Given the description of an element on the screen output the (x, y) to click on. 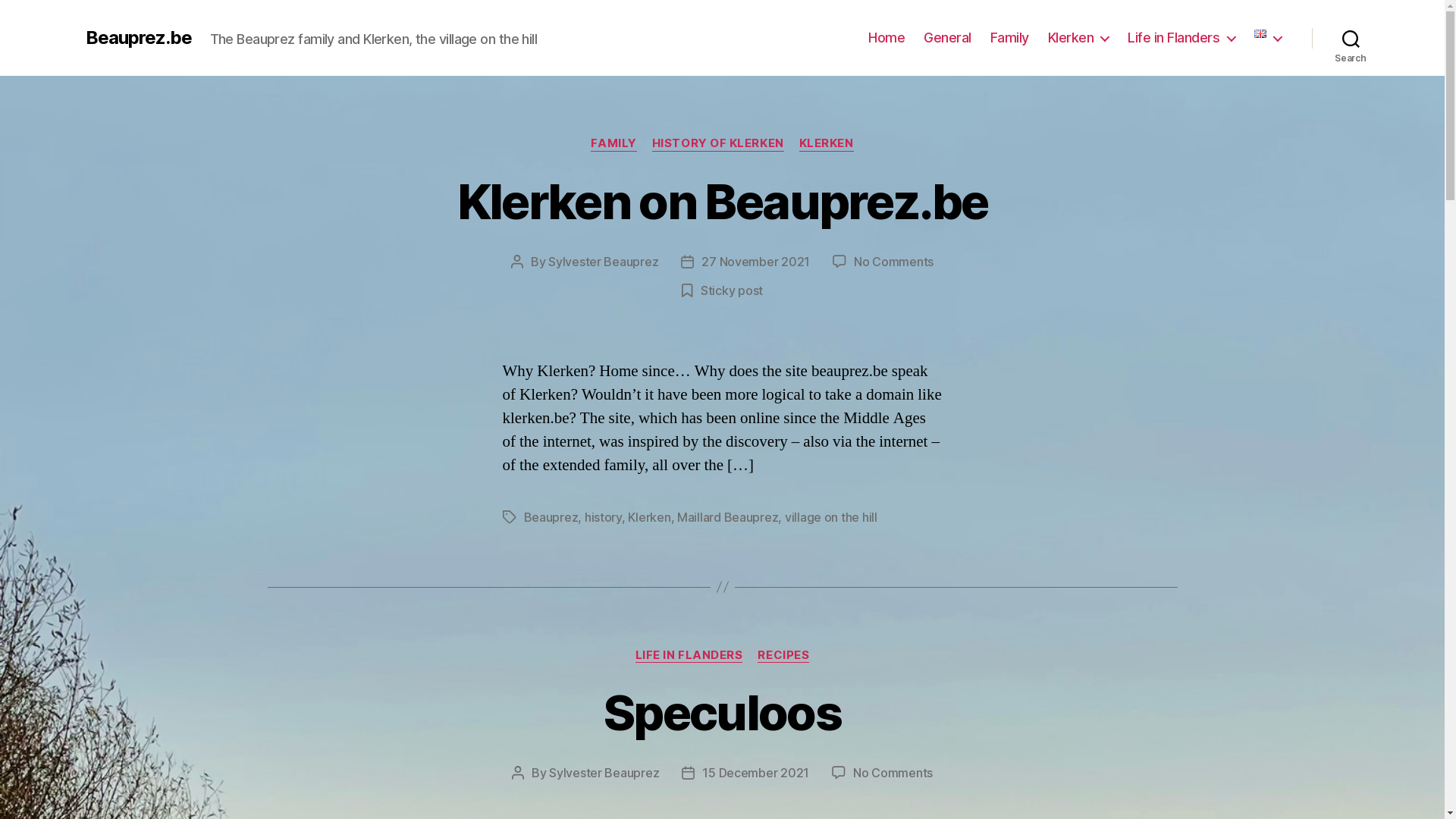
Sylvester Beauprez Element type: text (603, 261)
Home Element type: text (886, 37)
KLERKEN Element type: text (826, 143)
LIFE IN FLANDERS Element type: text (689, 655)
27 November 2021 Element type: text (755, 261)
Speculoos Element type: text (721, 712)
Klerken on Beauprez.be Element type: text (722, 201)
No Comments
on Klerken on Beauprez.be Element type: text (893, 261)
Sylvester Beauprez Element type: text (603, 772)
Maillard Beauprez Element type: text (727, 516)
Klerken Element type: text (1078, 37)
15 December 2021 Element type: text (755, 772)
FAMILY Element type: text (613, 143)
Family Element type: text (1009, 37)
Beauprez Element type: text (550, 516)
Life in Flanders Element type: text (1180, 37)
No Comments
on Speculoos Element type: text (892, 772)
village on the hill Element type: text (830, 516)
history Element type: text (602, 516)
Klerken Element type: text (648, 516)
Search Element type: text (1350, 37)
HISTORY OF KLERKEN Element type: text (718, 143)
General Element type: text (947, 37)
RECIPES Element type: text (783, 655)
Beauprez.be Element type: text (137, 37)
